Given the description of an element on the screen output the (x, y) to click on. 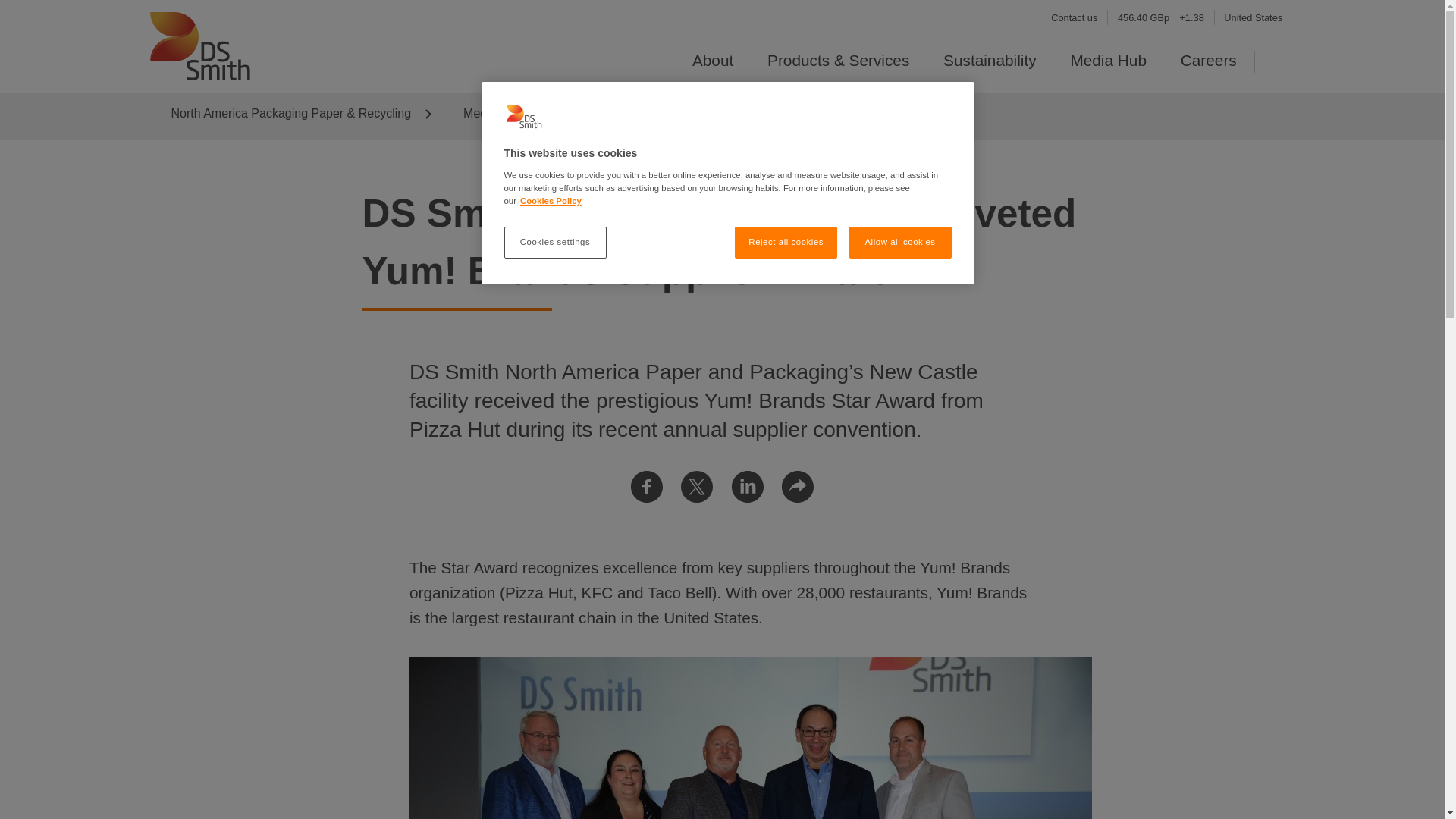
About (713, 59)
